Given the description of an element on the screen output the (x, y) to click on. 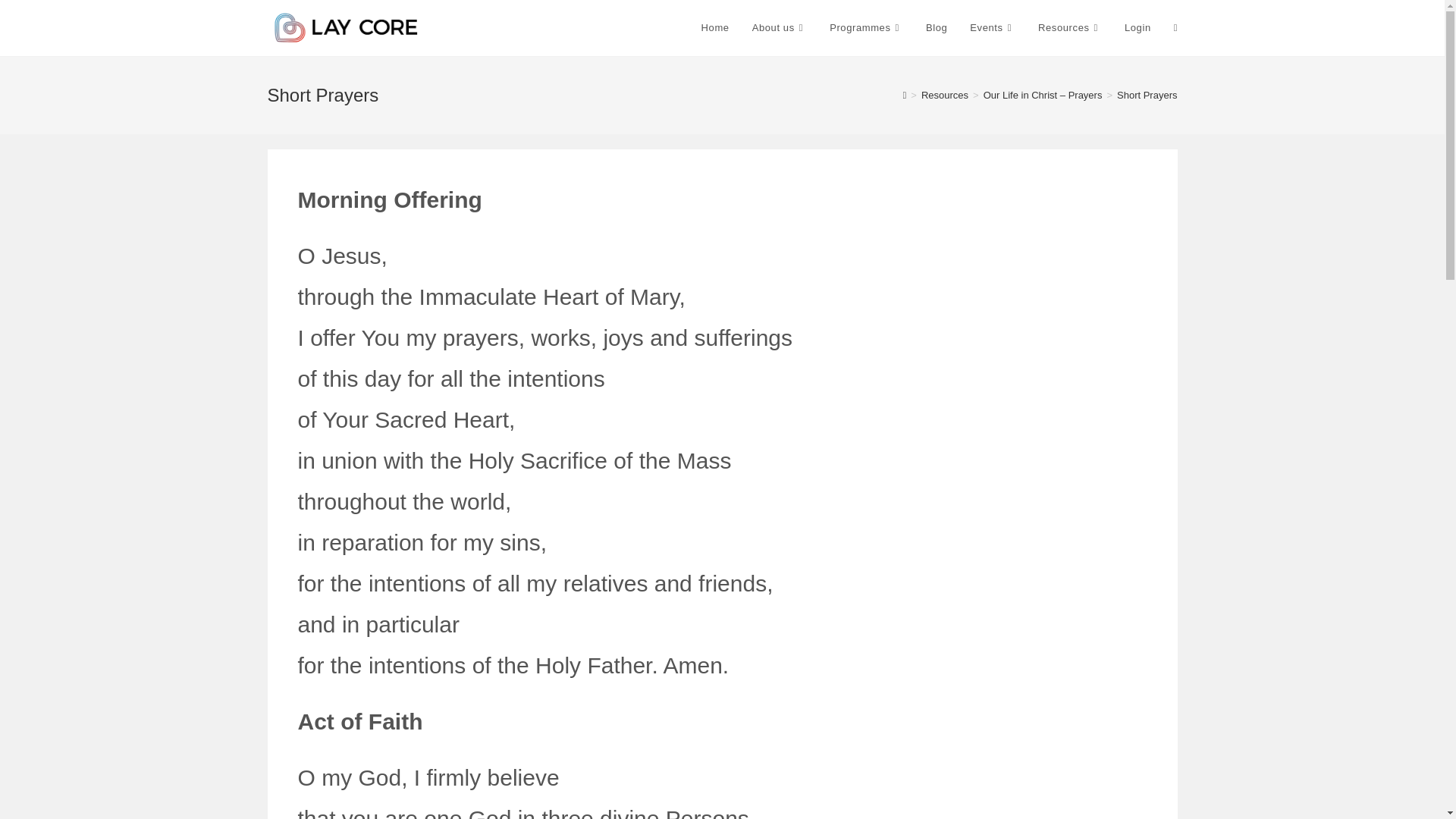
Programmes (866, 28)
Resources (1069, 28)
Home (715, 28)
About us (779, 28)
Events (992, 28)
